Given the description of an element on the screen output the (x, y) to click on. 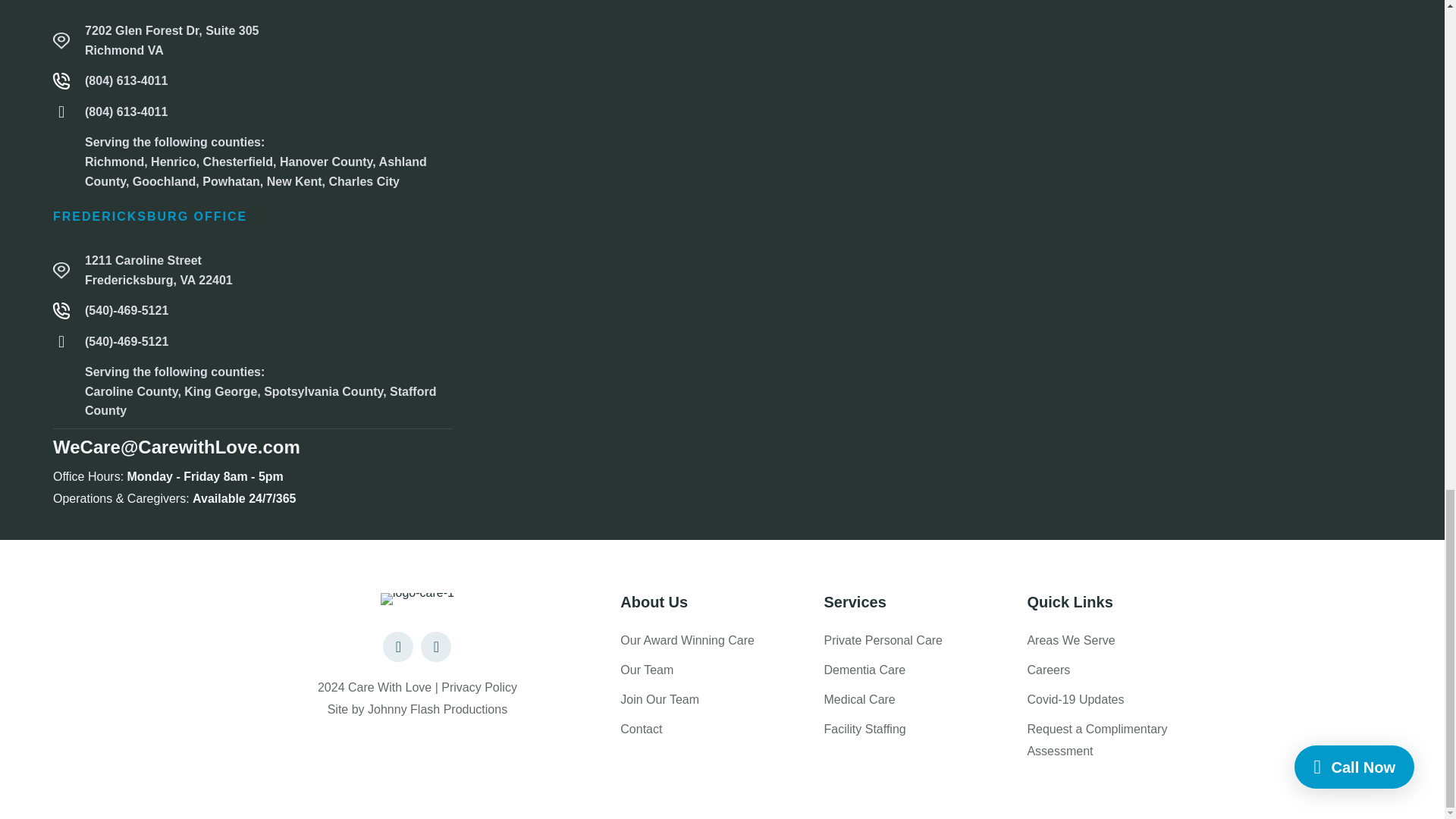
LinkedIn (435, 646)
logo-care-1 (417, 598)
Facebook (397, 646)
